Given the description of an element on the screen output the (x, y) to click on. 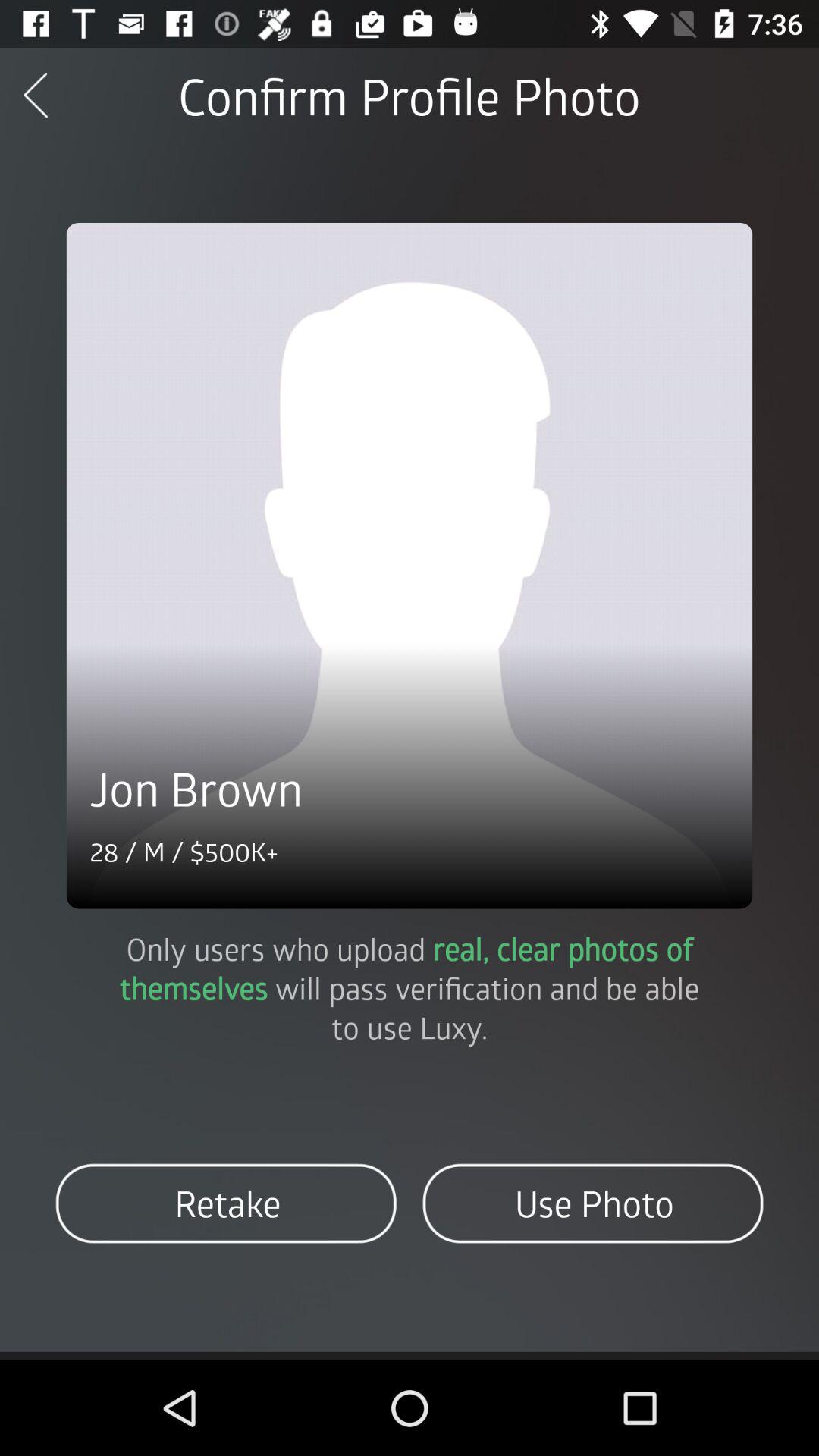
turn off icon next to the use photo icon (225, 1203)
